Given the description of an element on the screen output the (x, y) to click on. 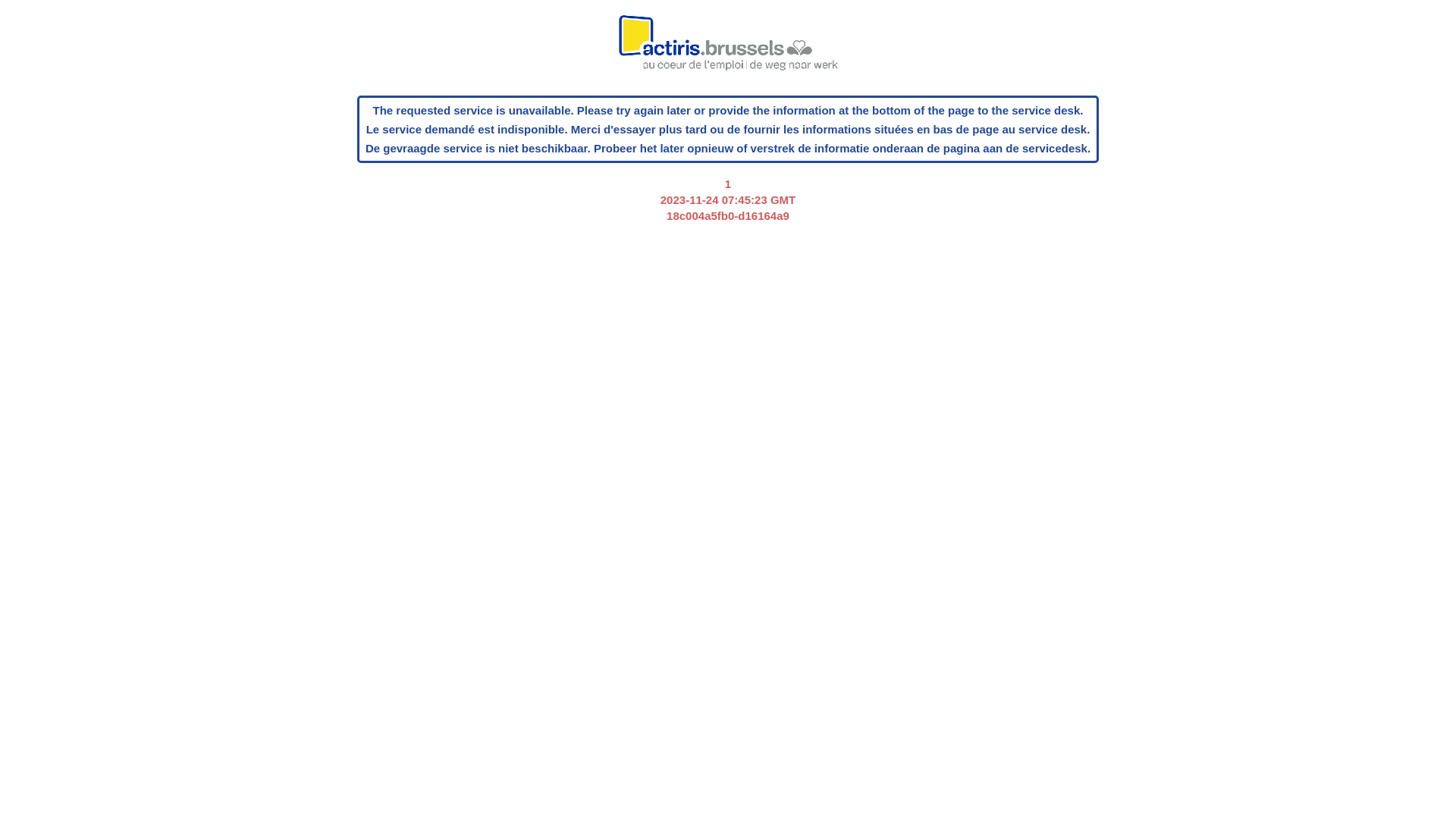
actiris_logo.png Element type: hover (727, 50)
